Given the description of an element on the screen output the (x, y) to click on. 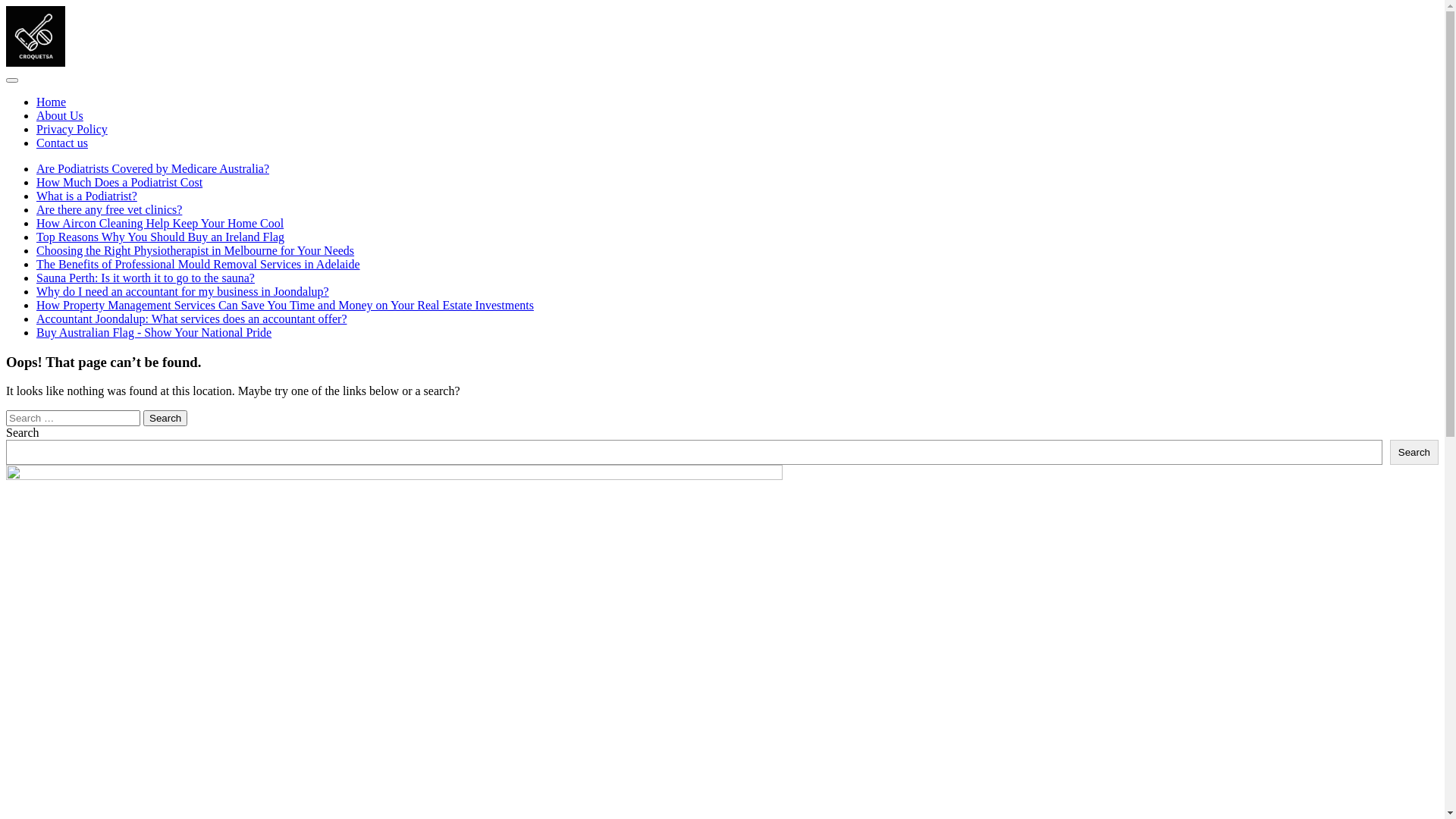
Privacy Policy Element type: text (71, 128)
Search for: Element type: hover (73, 418)
Why do I need an accountant for my business in Joondalup? Element type: text (182, 291)
About Us Element type: text (59, 115)
Skip to content Element type: text (5, 5)
Are there any free vet clinics? Element type: text (109, 209)
Top Reasons Why You Should Buy an Ireland Flag Element type: text (160, 236)
How Aircon Cleaning Help Keep Your Home Cool Element type: text (159, 222)
What is a Podiatrist? Element type: text (86, 195)
Buy Australian Flag - Show Your National Pride Element type: text (153, 332)
Search Element type: text (1414, 451)
Contact us Element type: text (61, 142)
Are Podiatrists Covered by Medicare Australia? Element type: text (152, 168)
Search Element type: text (165, 418)
How Much Does a Podiatrist Cost Element type: text (119, 181)
Sauna Perth: Is it worth it to go to the sauna? Element type: text (145, 277)
Home Element type: text (50, 101)
